Given the description of an element on the screen output the (x, y) to click on. 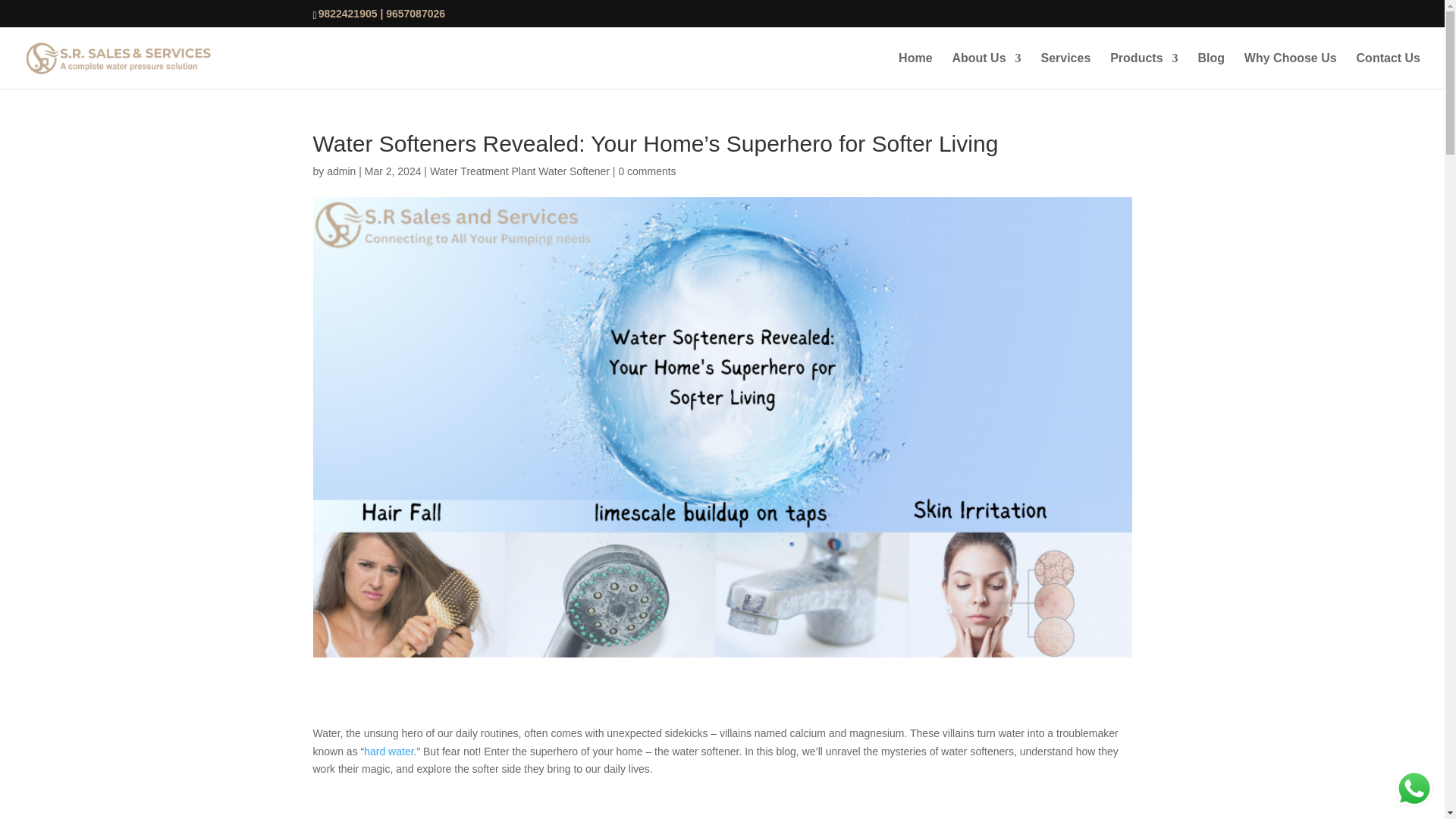
Why Choose Us (1290, 70)
About Us (986, 70)
Posts by admin (340, 171)
admin (340, 171)
Products (1143, 70)
hard water (388, 751)
WhatsApp us (1413, 788)
Home (914, 70)
Services (1065, 70)
0 comments (646, 171)
Contact Us (1388, 70)
Water Treatment Plant Water Softener (519, 171)
